Given the description of an element on the screen output the (x, y) to click on. 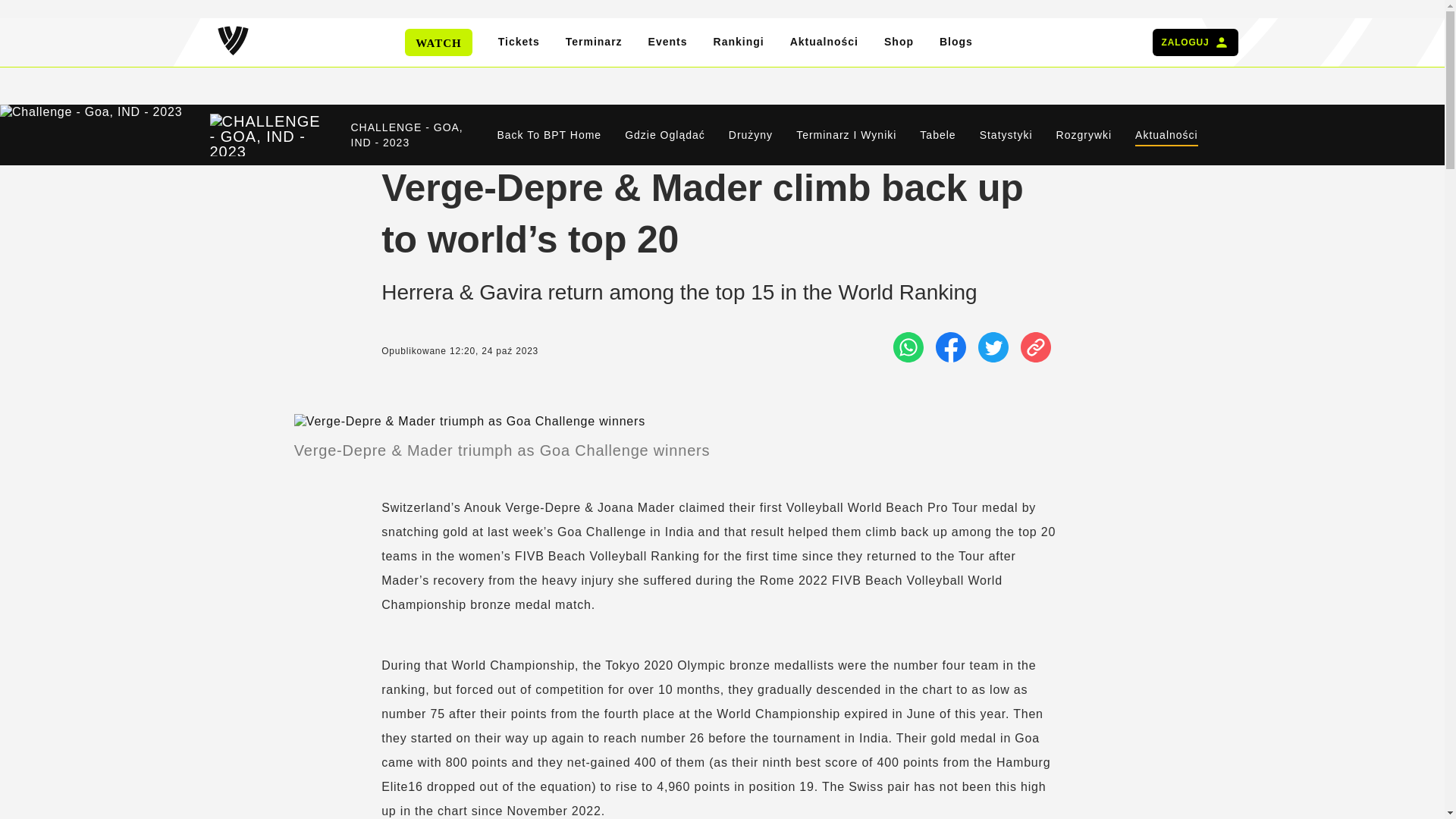
Terminarz I Wyniki (845, 134)
ZALOGUJ (1196, 42)
Back To BPT Home (549, 134)
Statystyki (1005, 134)
Blogs (955, 42)
Homepage (232, 42)
Rankingi (738, 42)
Rozgrywki (1084, 134)
Tickets (518, 42)
Events (667, 42)
Tabele (937, 134)
Challenge - Goa, IND - 2023 (266, 134)
Terminarz (594, 42)
Shop (898, 42)
WATCH (437, 42)
